Given the description of an element on the screen output the (x, y) to click on. 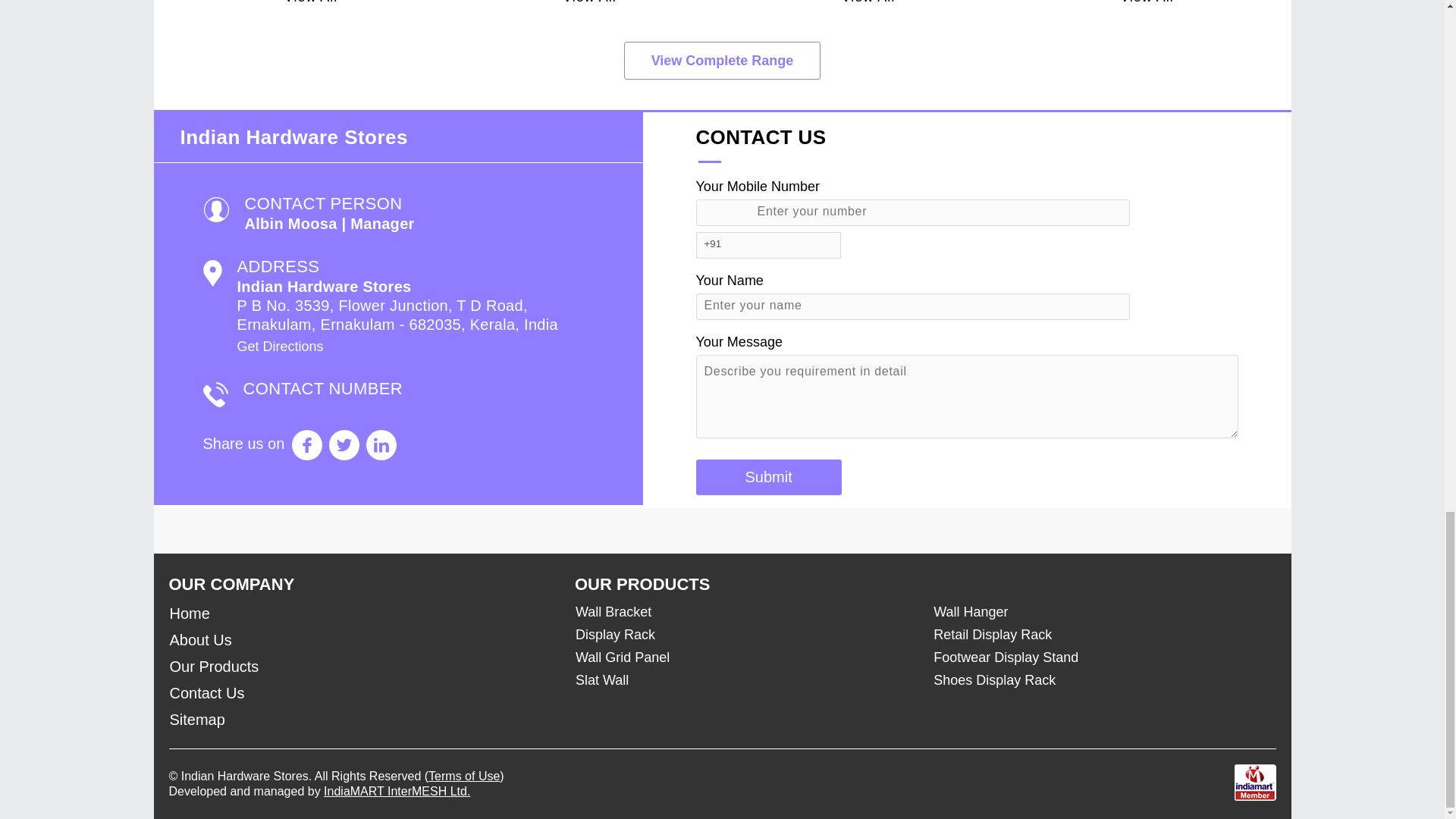
Submit (768, 477)
